Given the description of an element on the screen output the (x, y) to click on. 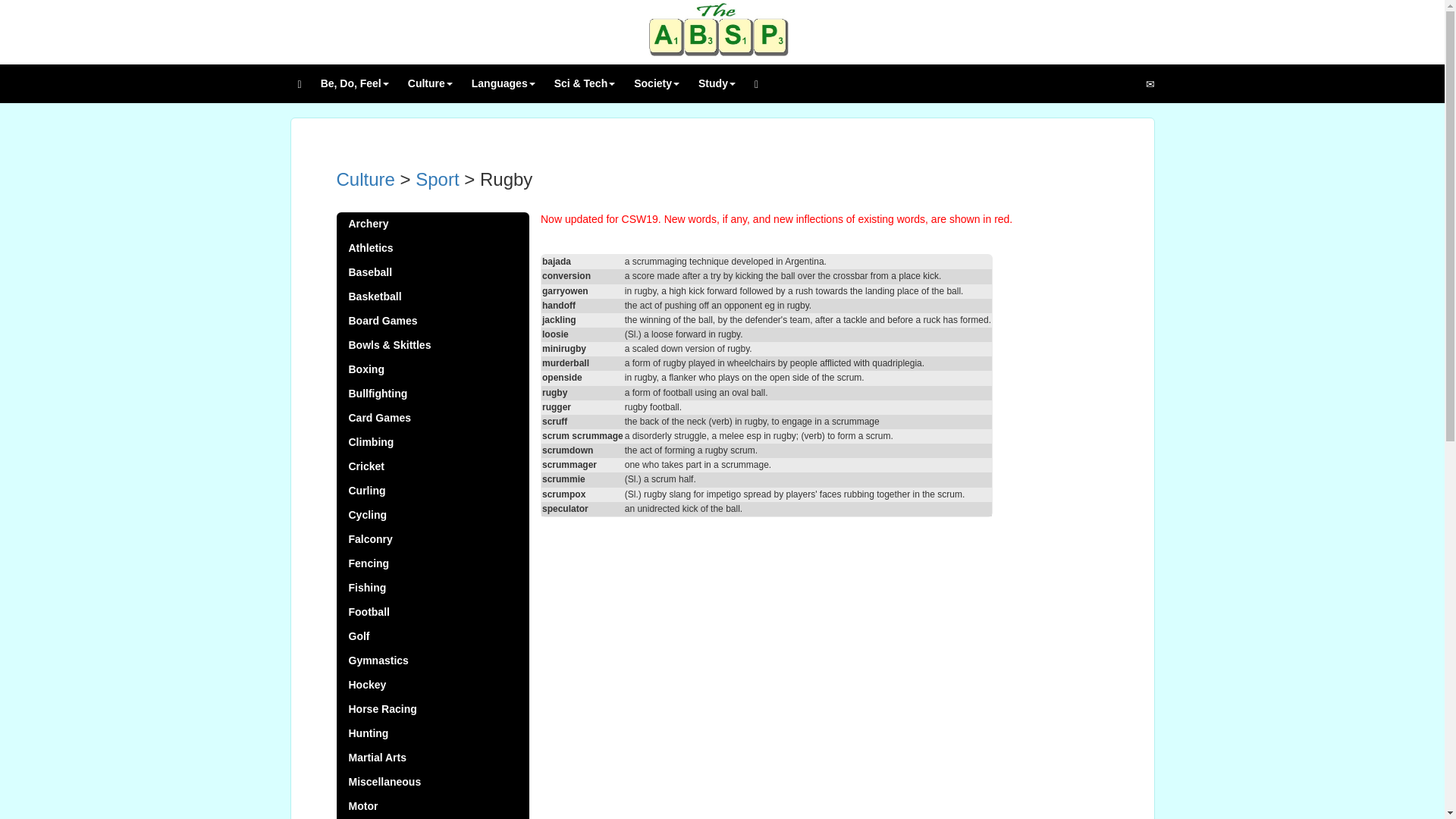
Be, Do, Feel (356, 83)
Languages (505, 83)
Culture (432, 83)
